Given the description of an element on the screen output the (x, y) to click on. 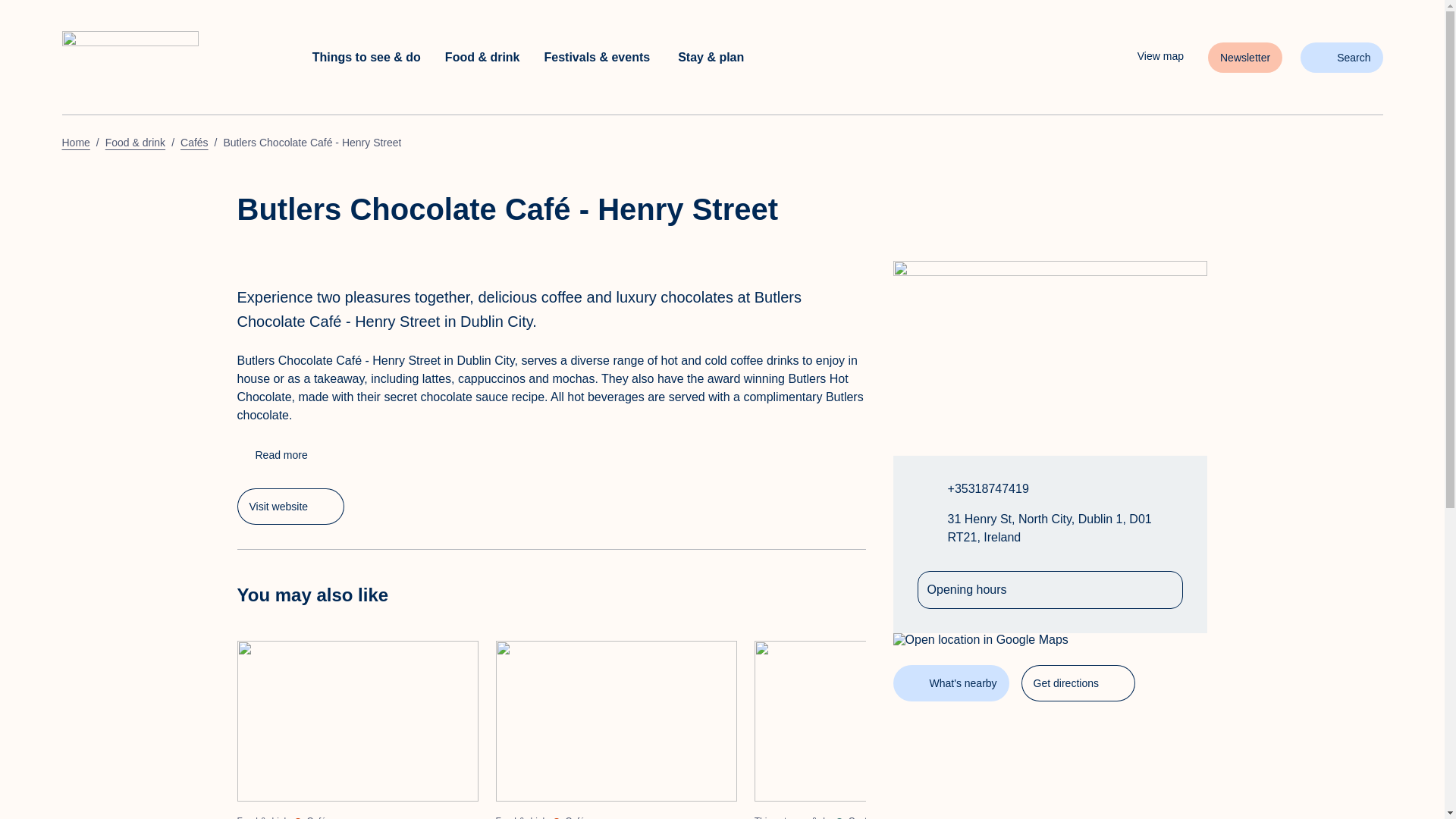
Search (1340, 57)
Newsletter (1245, 57)
Read more (289, 506)
View map (271, 454)
Click to go back to the homepage (1148, 55)
Home (169, 57)
